Given the description of an element on the screen output the (x, y) to click on. 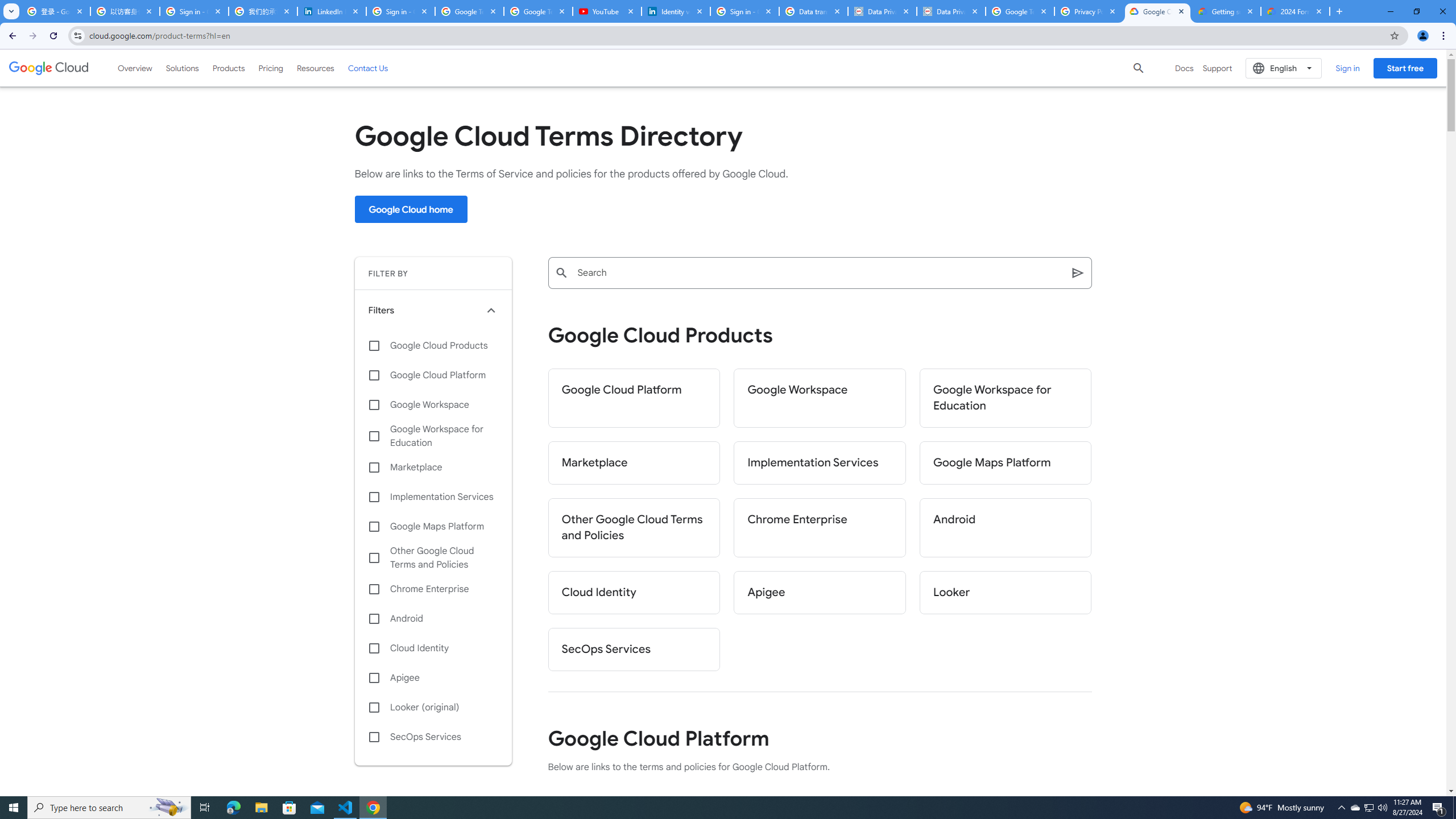
Solutions (181, 67)
Address and search bar (735, 35)
Google Workspace for Education (432, 435)
Search (819, 273)
Google Workspace (432, 404)
Docs (1183, 67)
Reload (52, 35)
Google Maps Platform (1005, 462)
Google Maps Platform (432, 526)
Pricing (270, 67)
Sign in - Google Accounts (400, 11)
Chrome Enterprise (819, 527)
Support (1216, 67)
Identity verification via Persona | LinkedIn Help (675, 11)
